Given the description of an element on the screen output the (x, y) to click on. 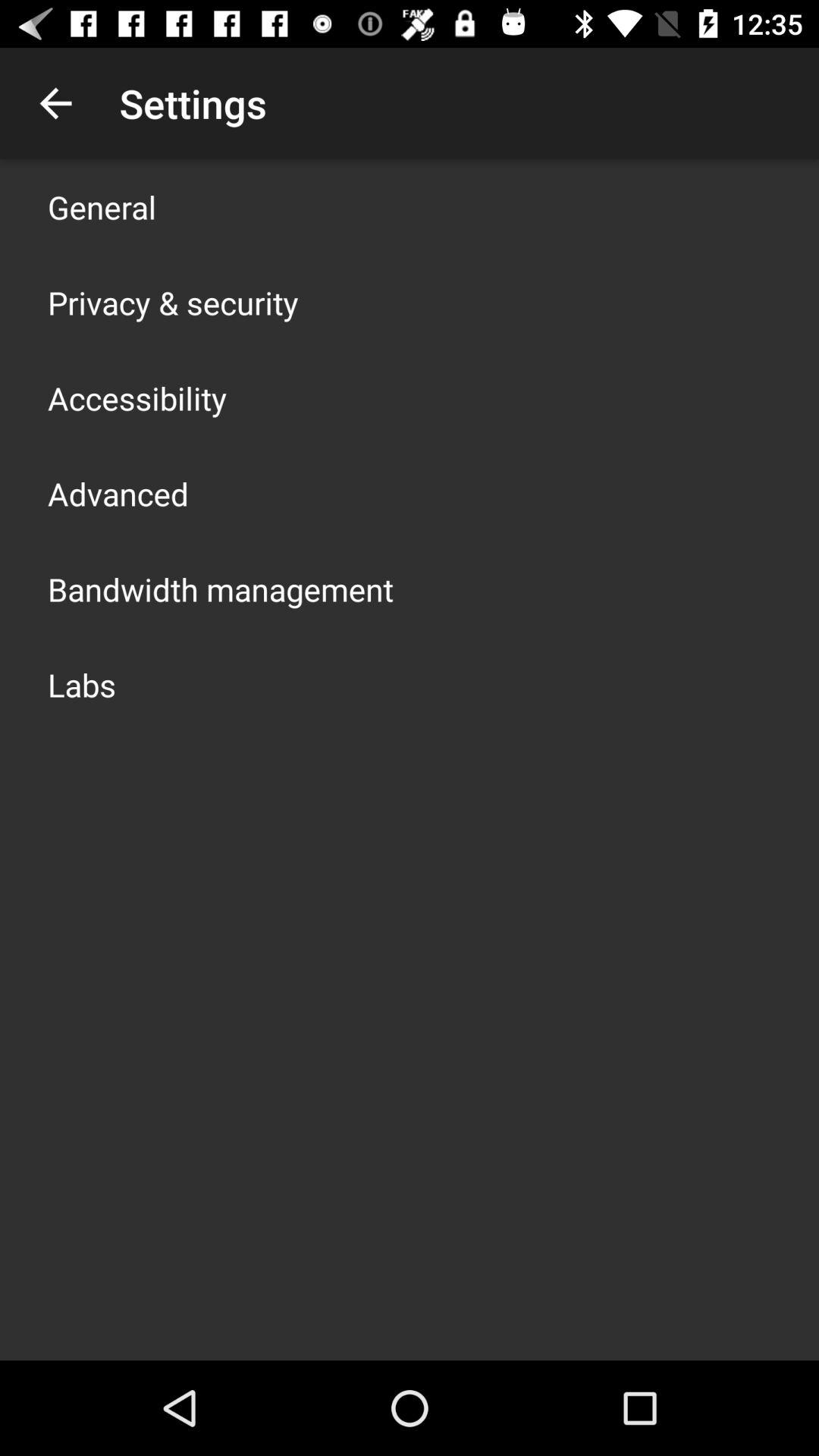
press the labs (81, 684)
